Given the description of an element on the screen output the (x, y) to click on. 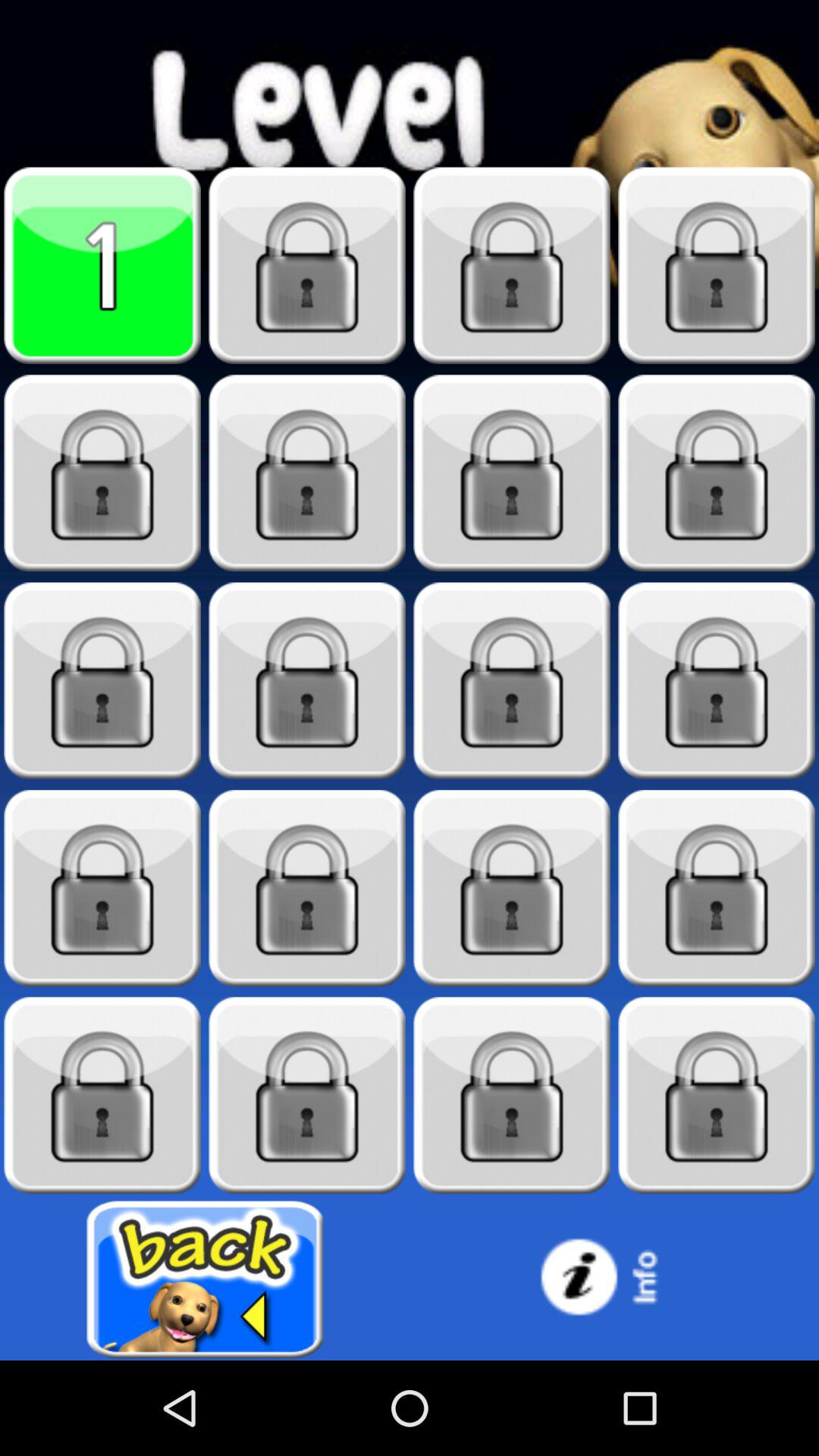
a locked level tab (306, 1094)
